Given the description of an element on the screen output the (x, y) to click on. 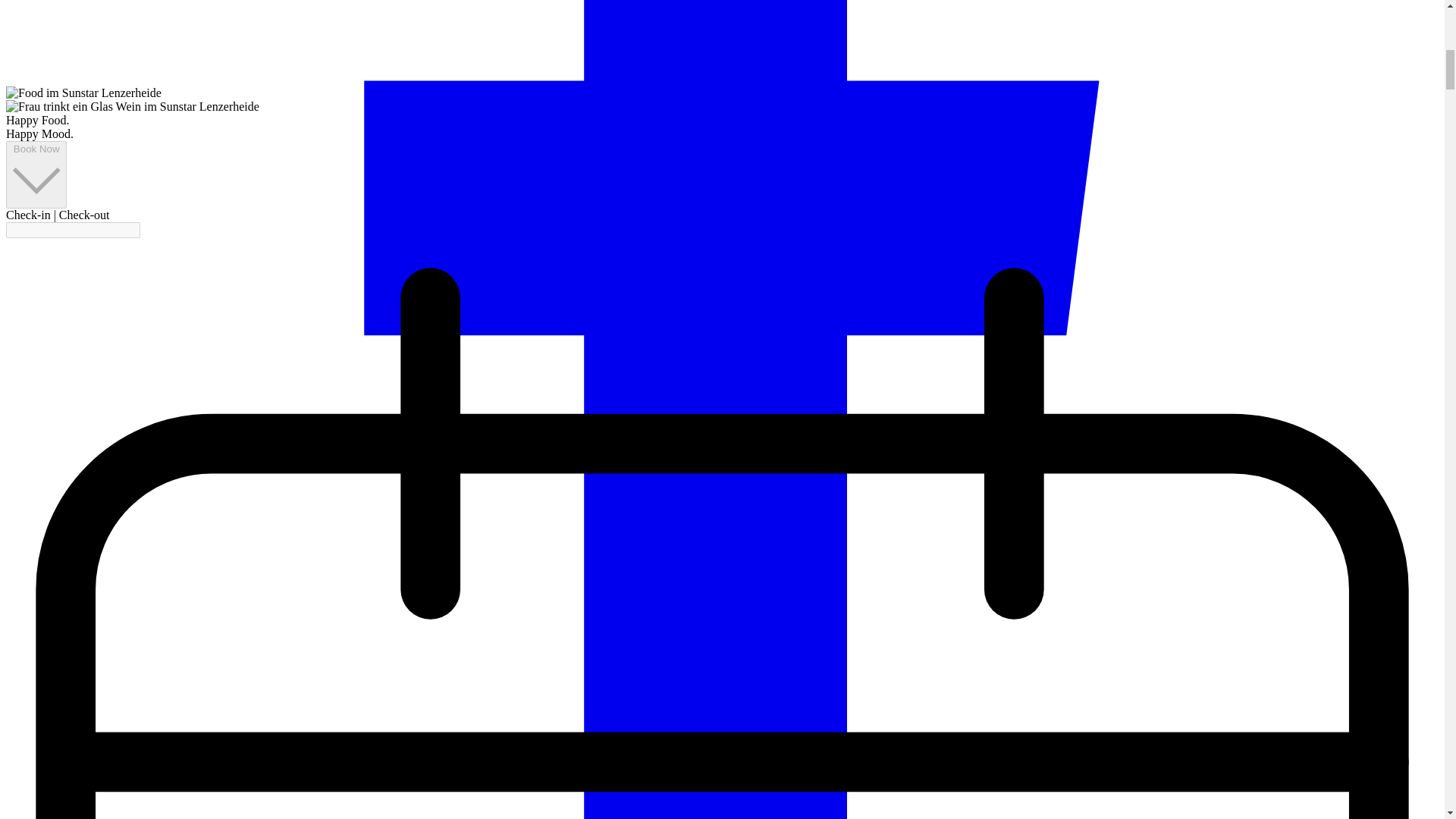
Book Now (35, 174)
Sunstar Swiss Hotel Collection Lenzerheide Restaurant (132, 106)
Sunstar Swiss Hotel Collection Lenzerheide Restaurant (83, 92)
